Given the description of an element on the screen output the (x, y) to click on. 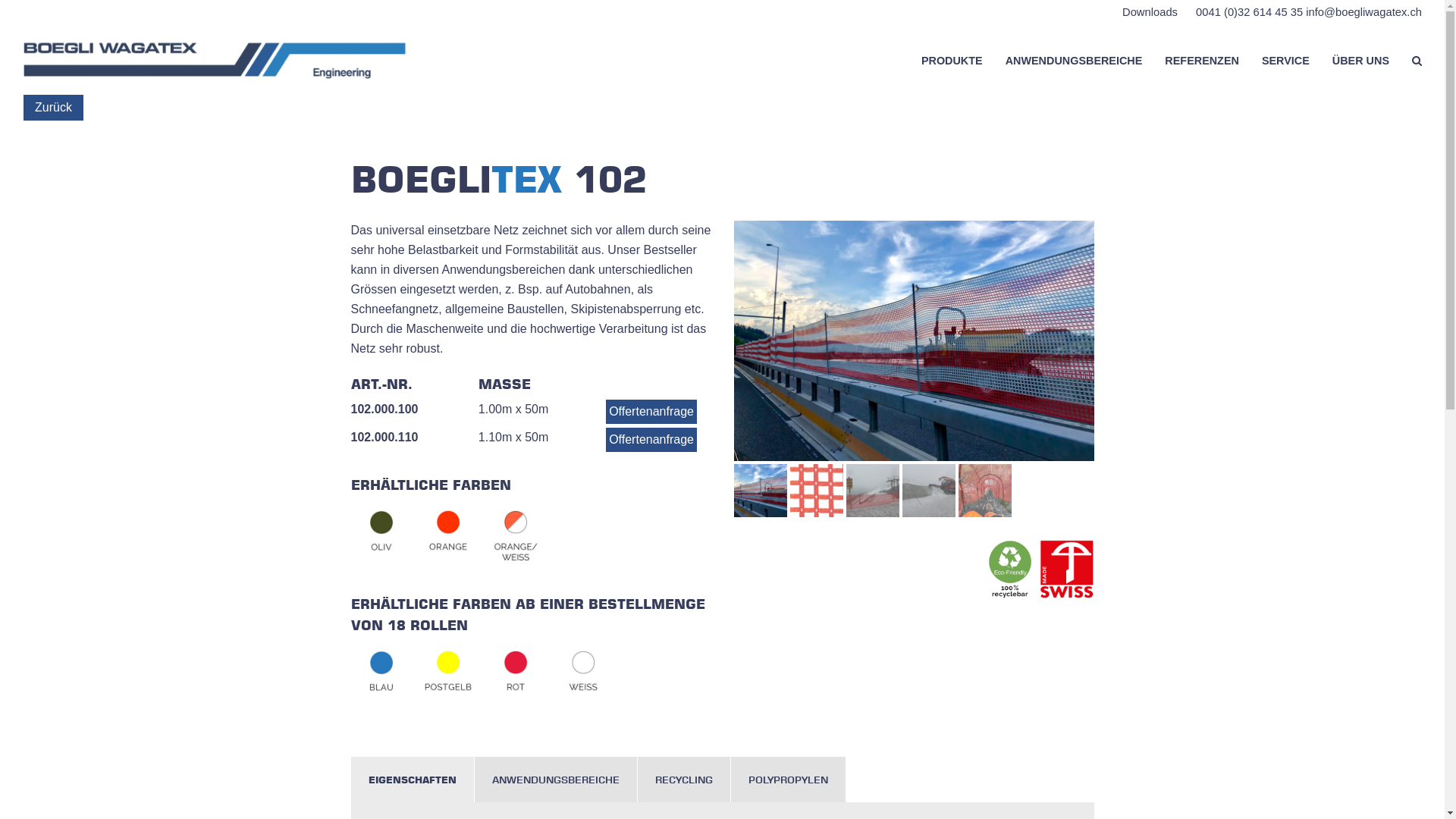
Downloads Element type: text (1142, 12)
PRODUKTE Element type: text (952, 60)
ANWENDUNGSBEREICHE Element type: text (1074, 60)
REFERENZEN Element type: text (1201, 60)
POLYPROPYLEN Element type: text (788, 779)
SERVICE Element type: text (1285, 60)
0041 (0)32 614 45 35 Element type: text (1241, 12)
RECYCLING Element type: text (683, 779)
info@boegliwagatex.ch Element type: text (1363, 12)
EIGENSCHAFTEN Element type: text (411, 779)
